Given the description of an element on the screen output the (x, y) to click on. 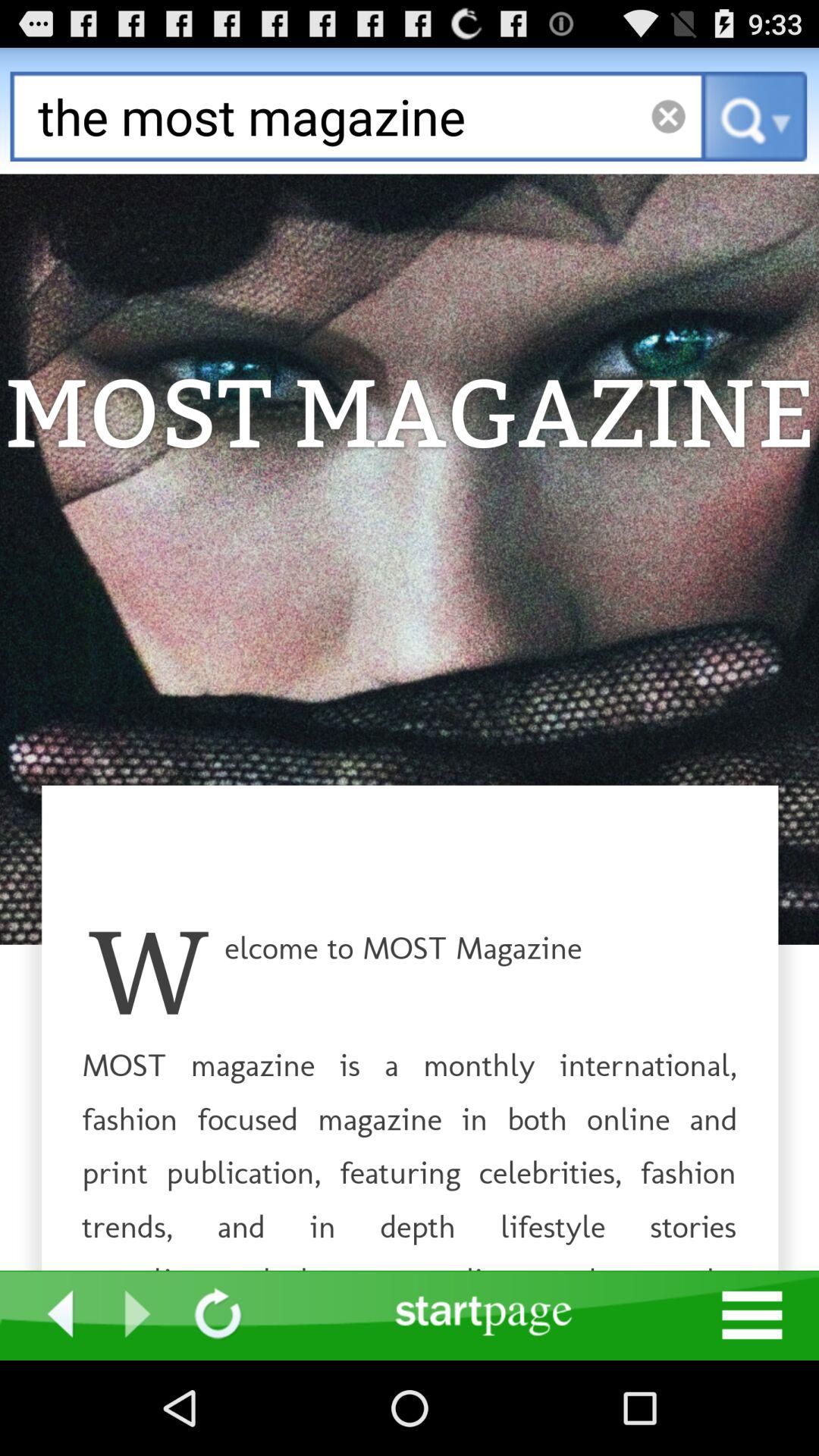
close button (668, 116)
